Given the description of an element on the screen output the (x, y) to click on. 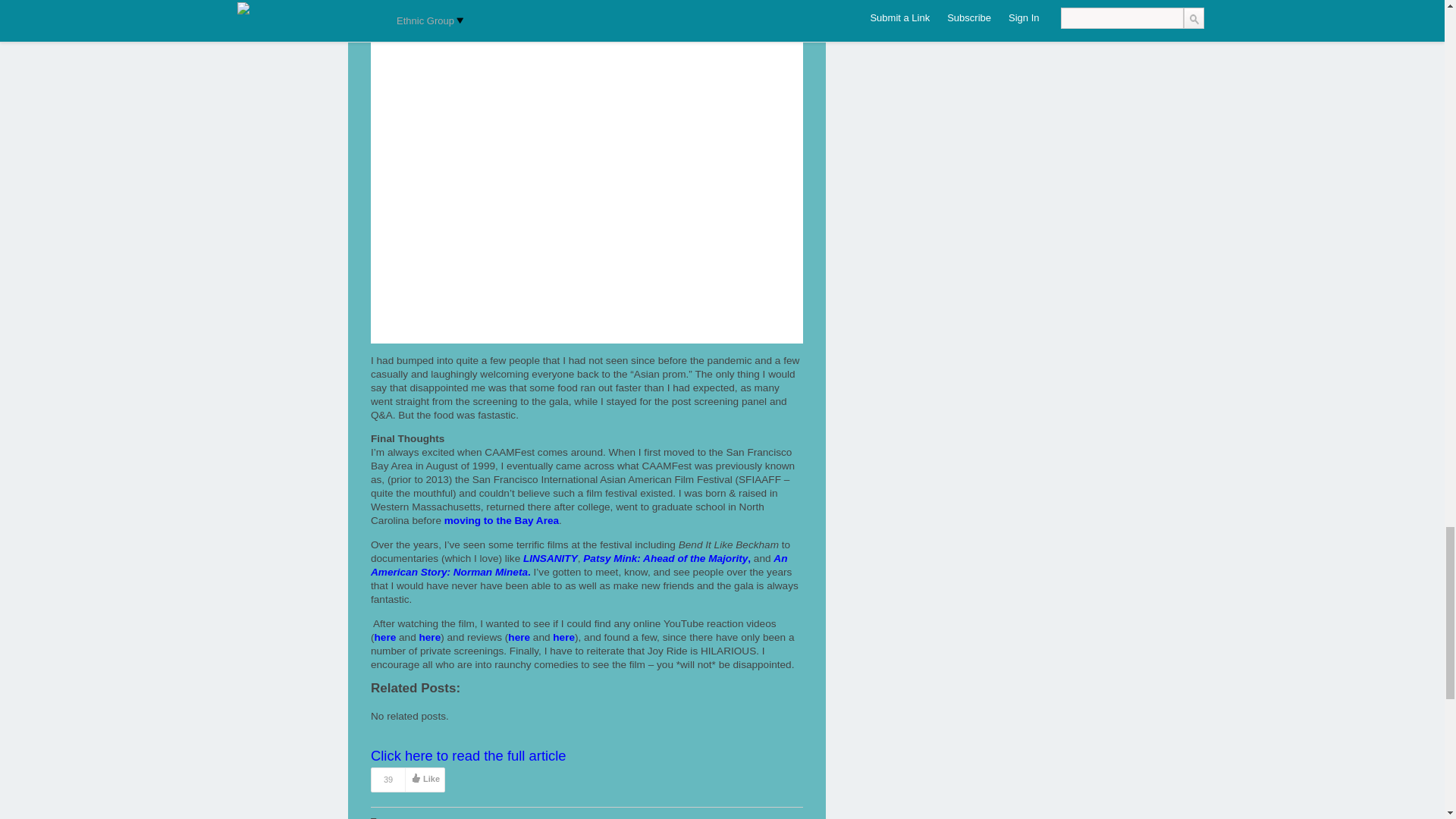
moving to the Bay Area (501, 520)
Patsy Mink: Ahead of the Majority, (667, 558)
LINSANITY (550, 558)
here (385, 636)
An American Story: Norman Mineta. (579, 565)
